Given the description of an element on the screen output the (x, y) to click on. 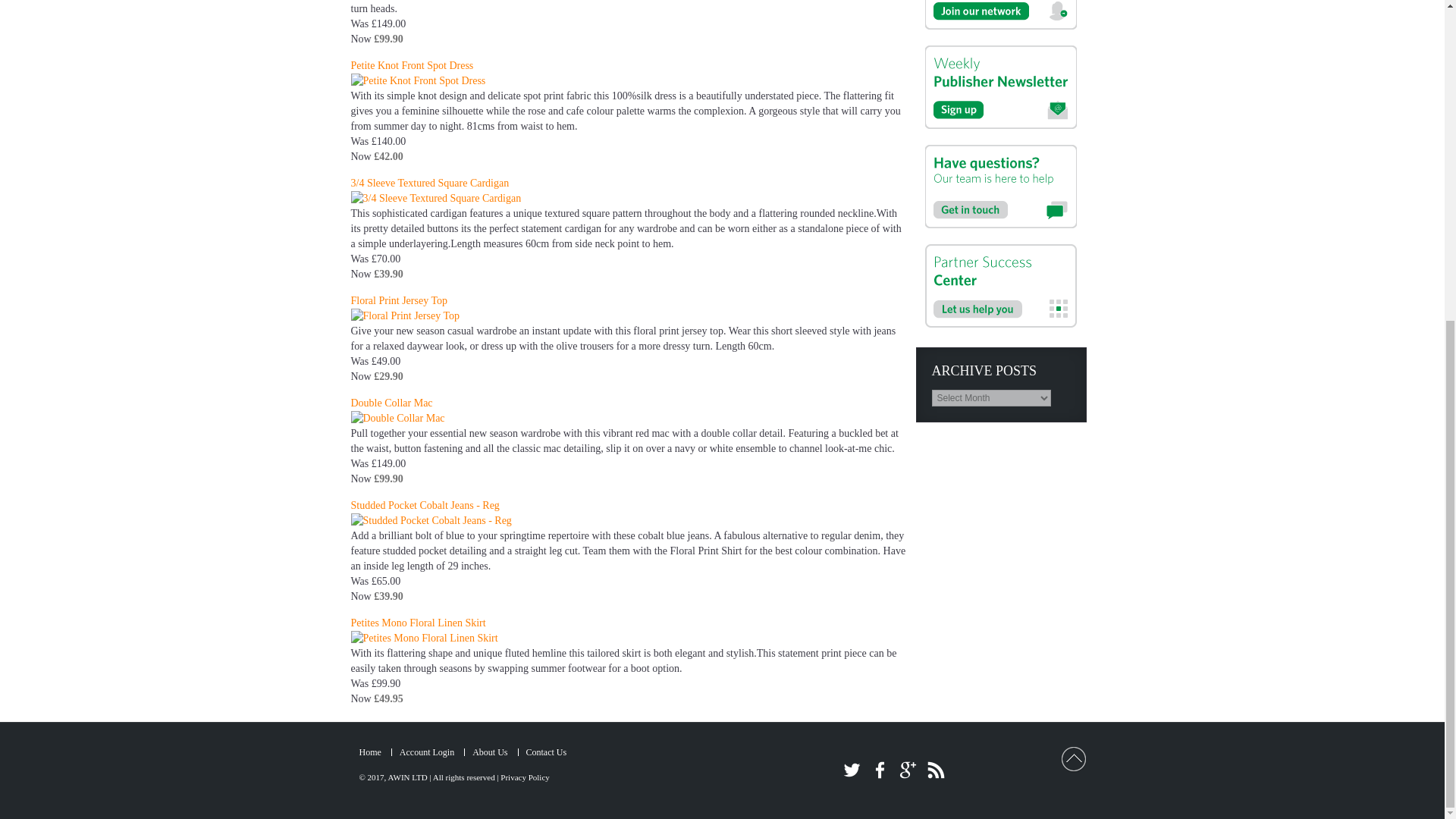
Petites Mono Floral Linen Skirt (417, 622)
Studded Pocket Cobalt Jeans - Reg (424, 505)
Petite Knot Front Spot Dress (411, 65)
Double Collar Mac (391, 402)
Floral Print Jersey Top (398, 300)
